Given the description of an element on the screen output the (x, y) to click on. 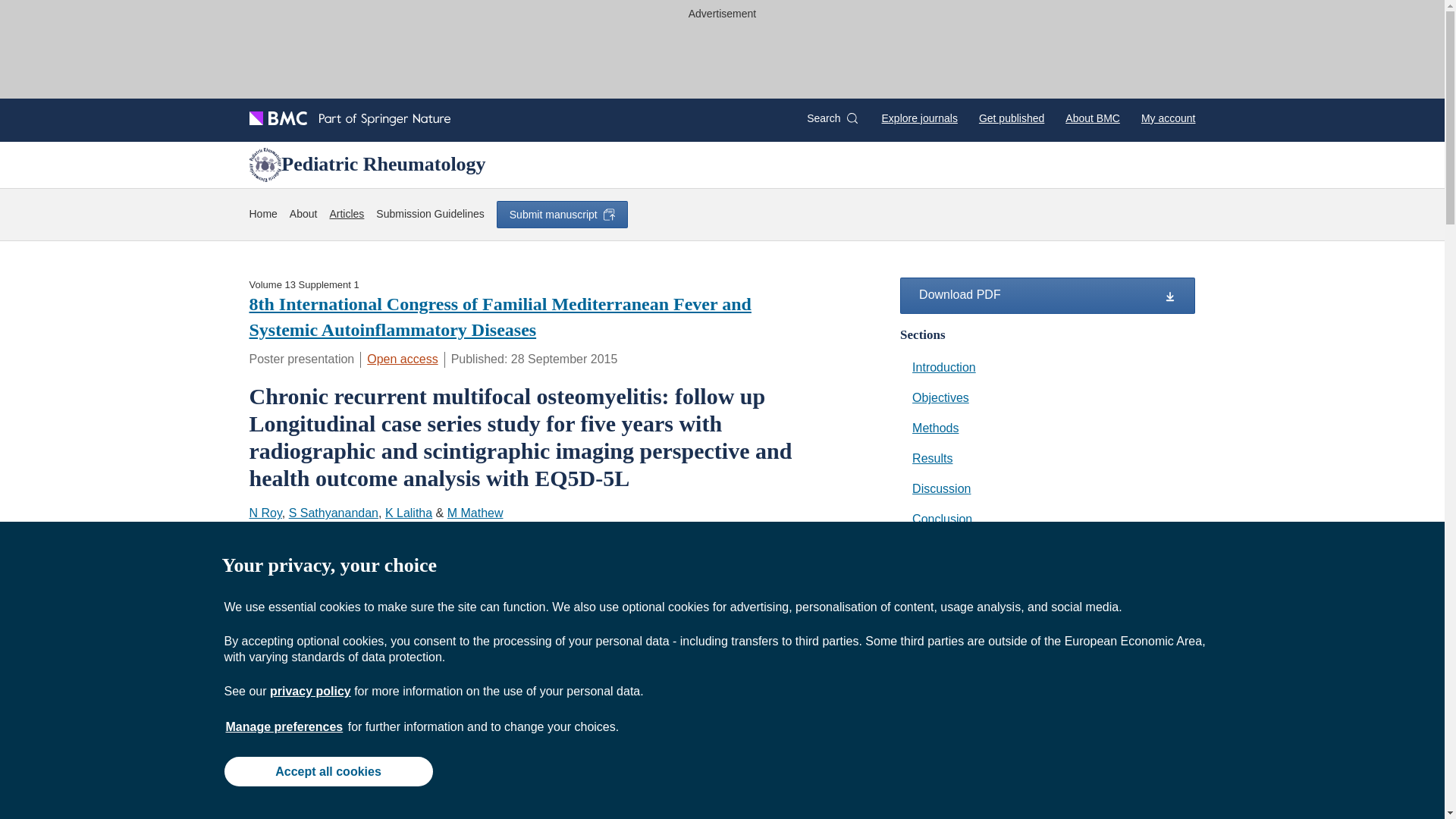
Pediatric Rheumatology (312, 543)
M Mathew (474, 512)
Manage preferences (284, 726)
S Sathyanandan (333, 512)
Accept all cookies (328, 771)
N Roy (264, 512)
Submission Guidelines (429, 213)
privacy policy (309, 690)
Metrics (361, 565)
About BMC (1092, 118)
Open access (402, 358)
Home (262, 213)
Cite this article (609, 543)
